Given the description of an element on the screen output the (x, y) to click on. 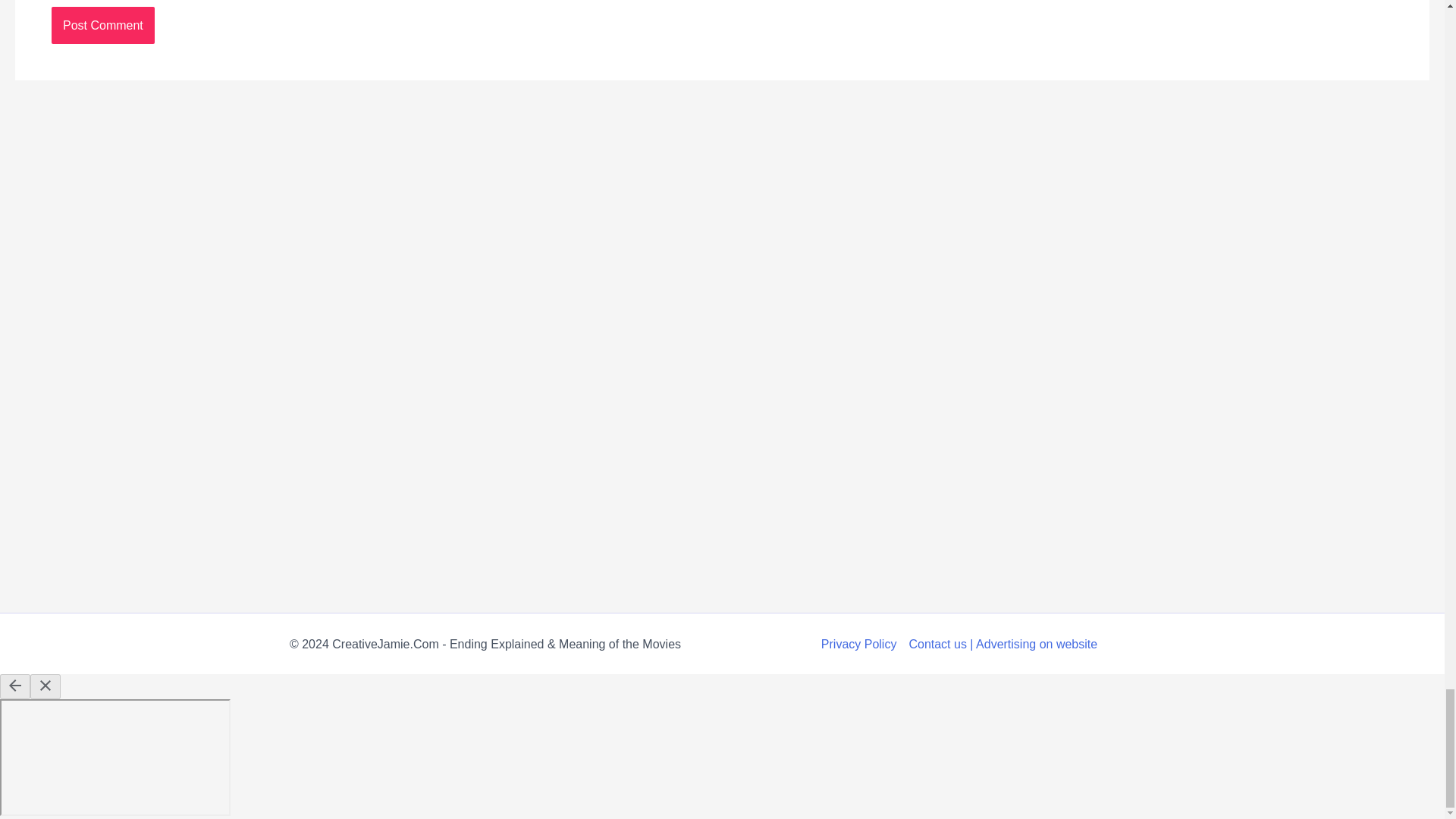
Post Comment (102, 25)
Privacy Policy (861, 644)
Post Comment (102, 25)
